Given the description of an element on the screen output the (x, y) to click on. 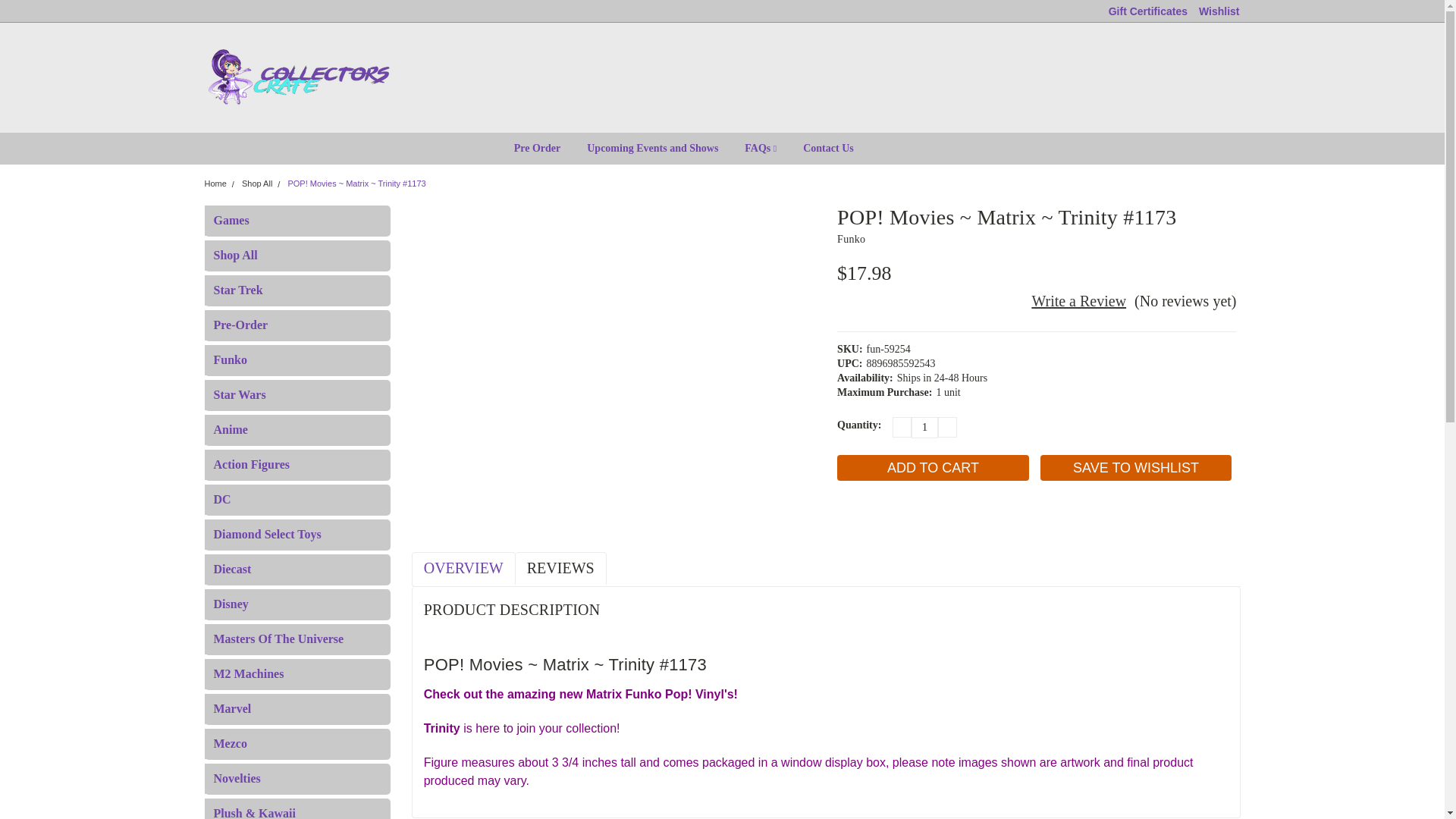
Collectors Crate (299, 77)
Gift Certificates (1148, 10)
1 (924, 427)
Add to Cart (933, 467)
Wishlist (1219, 10)
